Given the description of an element on the screen output the (x, y) to click on. 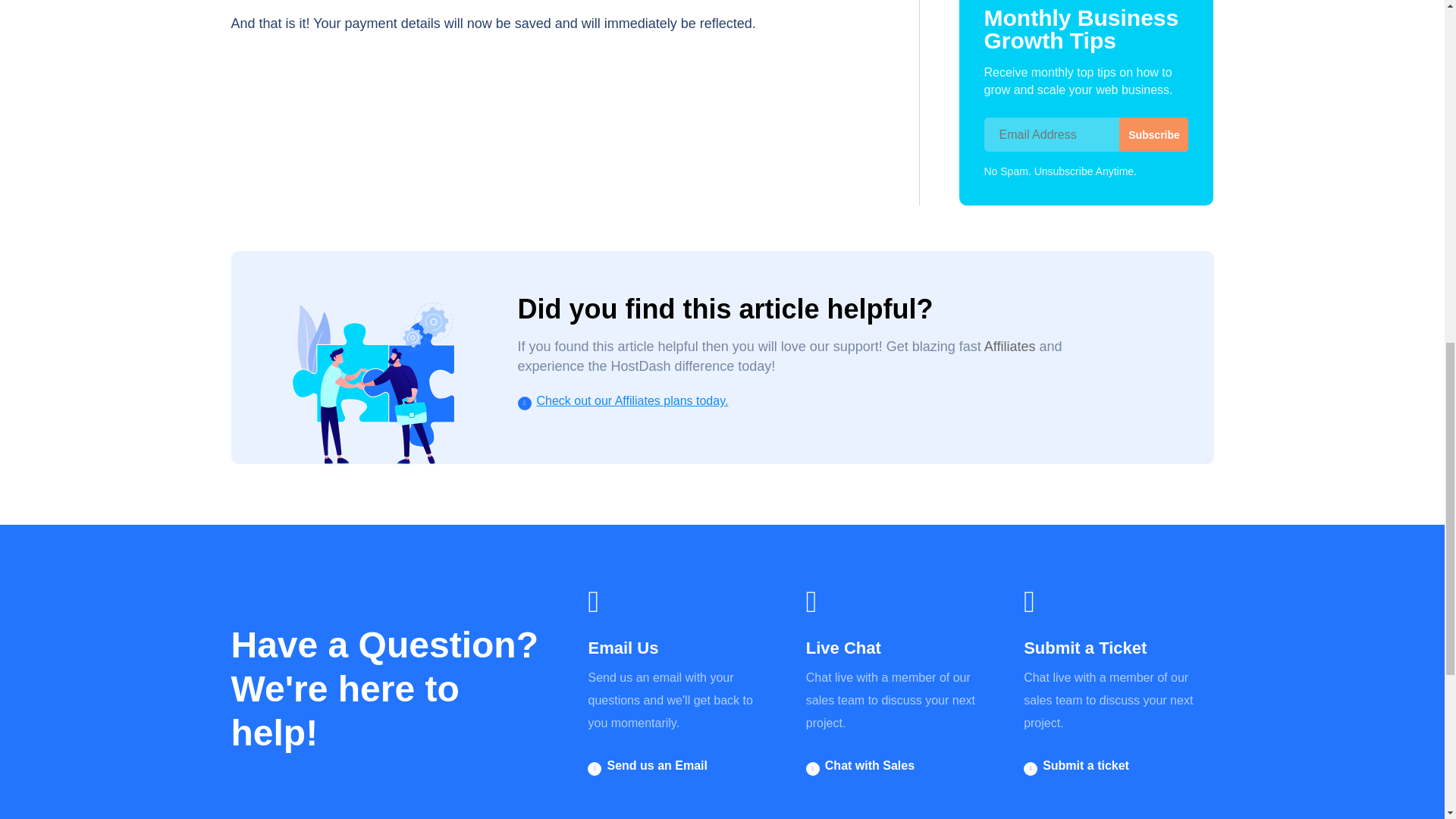
Send us an Email (656, 765)
Chat with Sales (869, 765)
Subscribe (1153, 134)
Affiliates (1009, 346)
Check out our Affiliates plans today. (633, 400)
Subscribe (1153, 134)
Submit a ticket (1085, 765)
